Given the description of an element on the screen output the (x, y) to click on. 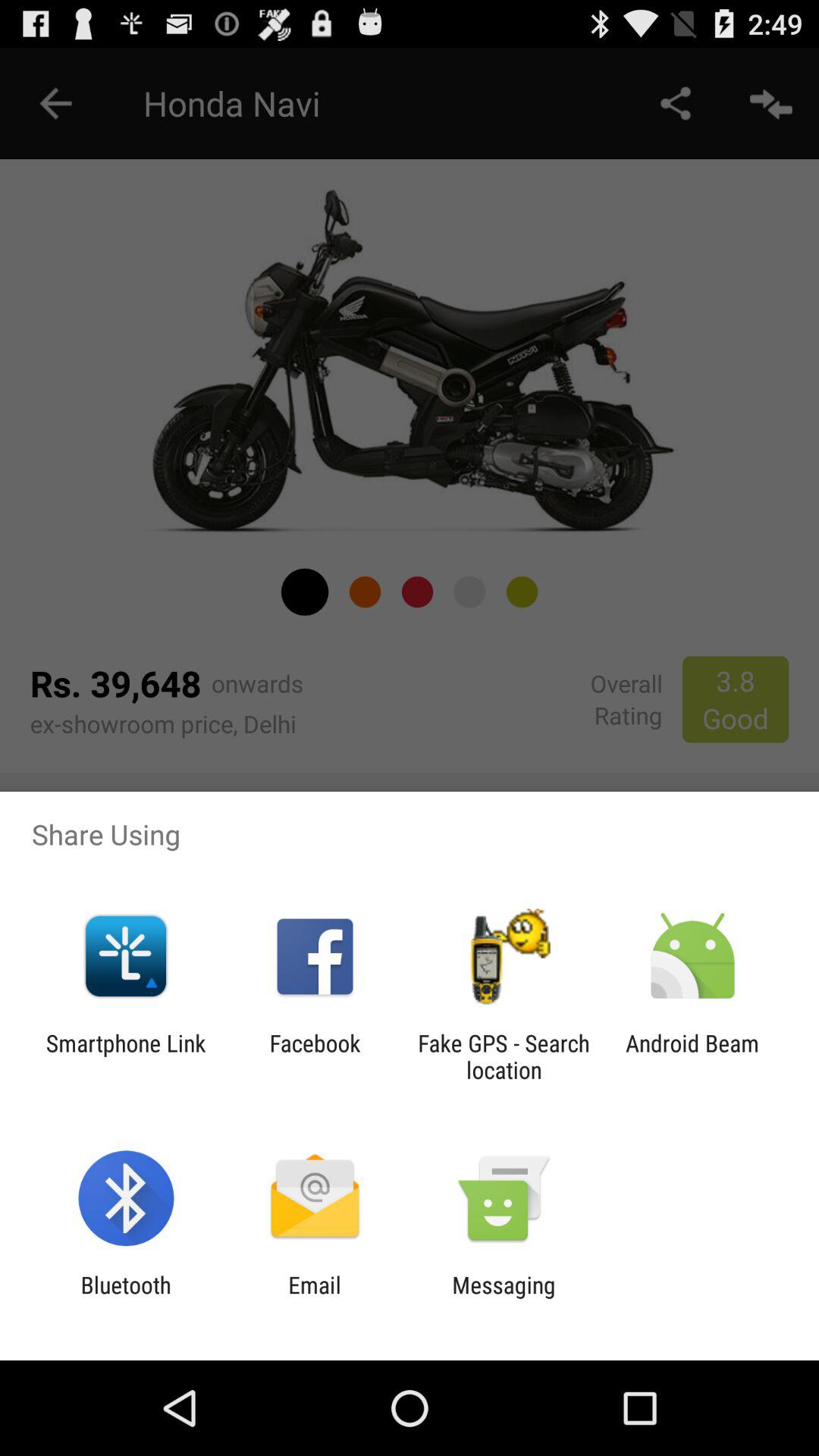
turn on fake gps search (503, 1056)
